Given the description of an element on the screen output the (x, y) to click on. 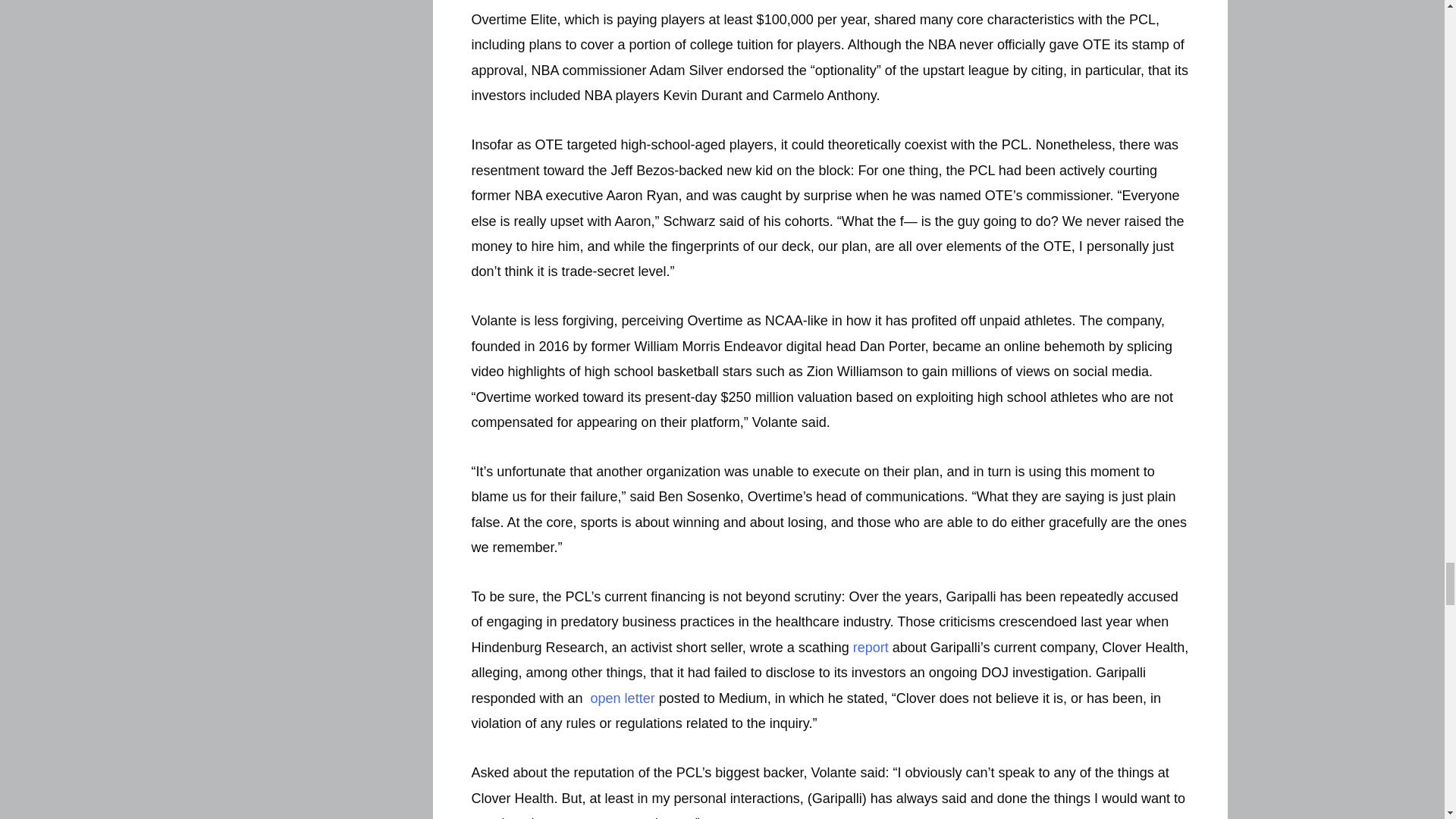
report (870, 647)
open letter (620, 698)
